Given the description of an element on the screen output the (x, y) to click on. 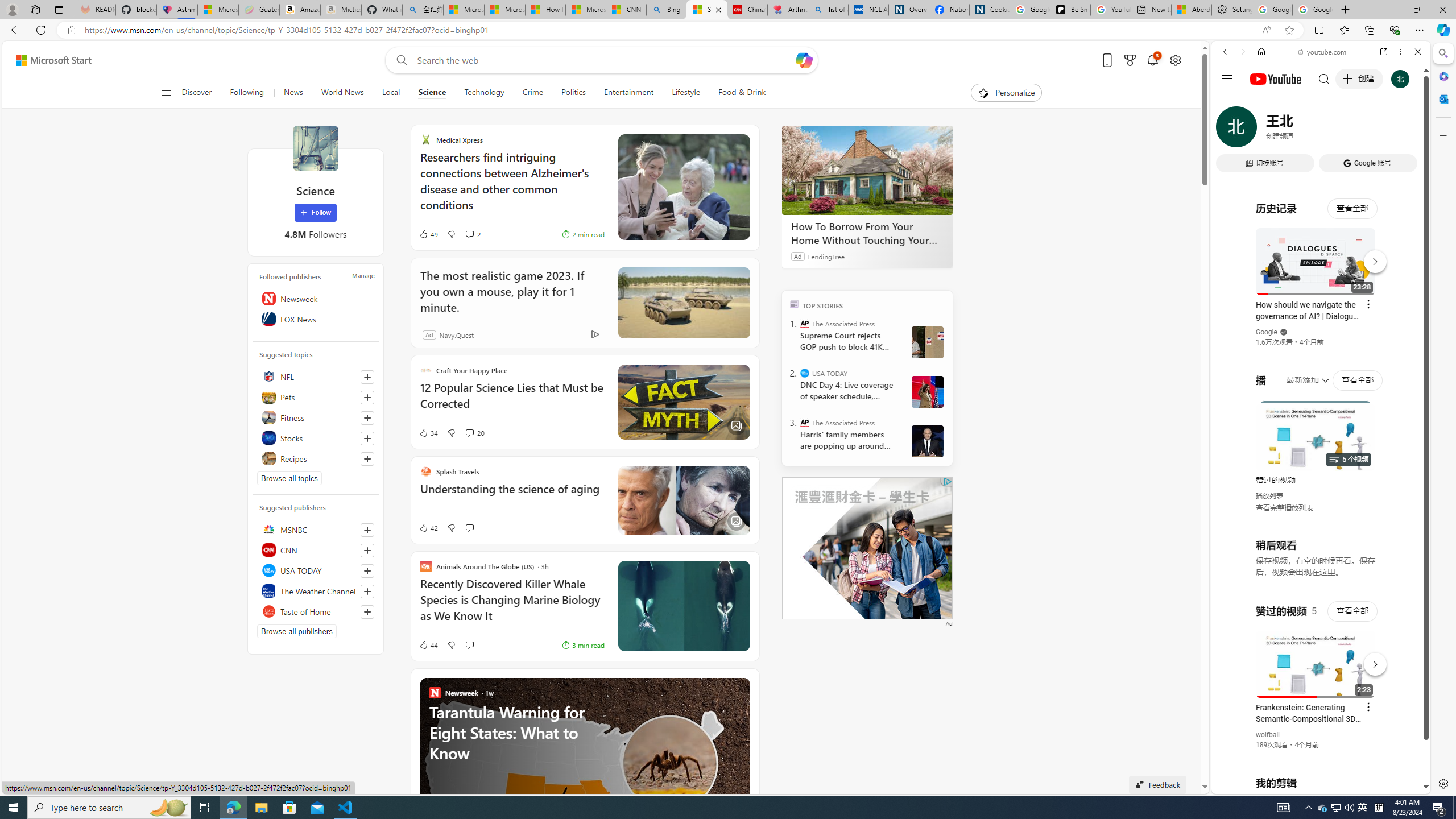
42 Like (427, 527)
youtube.com (1322, 51)
you (1315, 755)
How I Got Rid of Microsoft Edge's Unnecessary Features (544, 9)
World News (341, 92)
Fitness (315, 417)
Pets (315, 397)
Read aloud this page (Ctrl+Shift+U) (1266, 29)
